Given the description of an element on the screen output the (x, y) to click on. 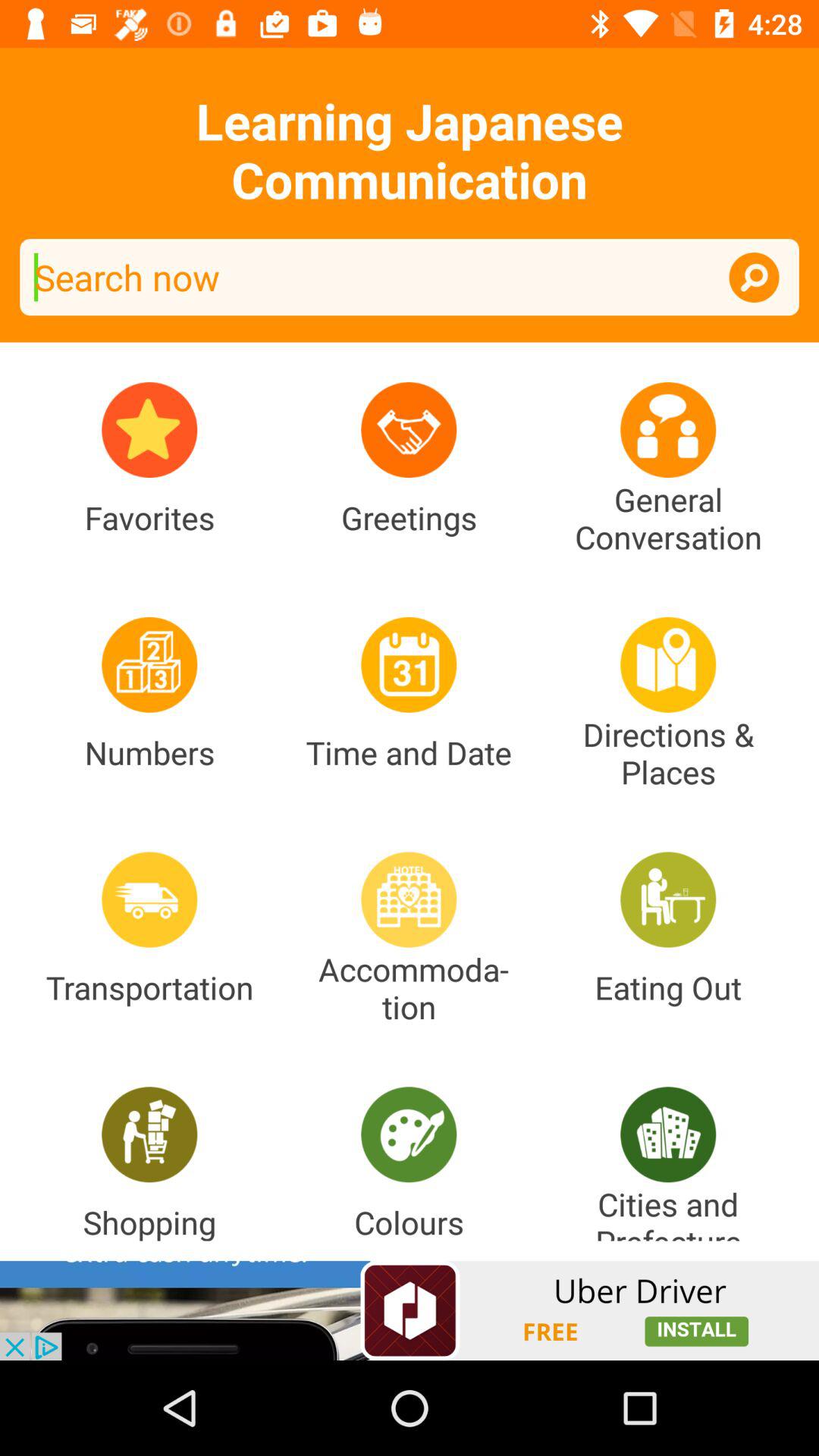
click the search option (754, 277)
